Given the description of an element on the screen output the (x, y) to click on. 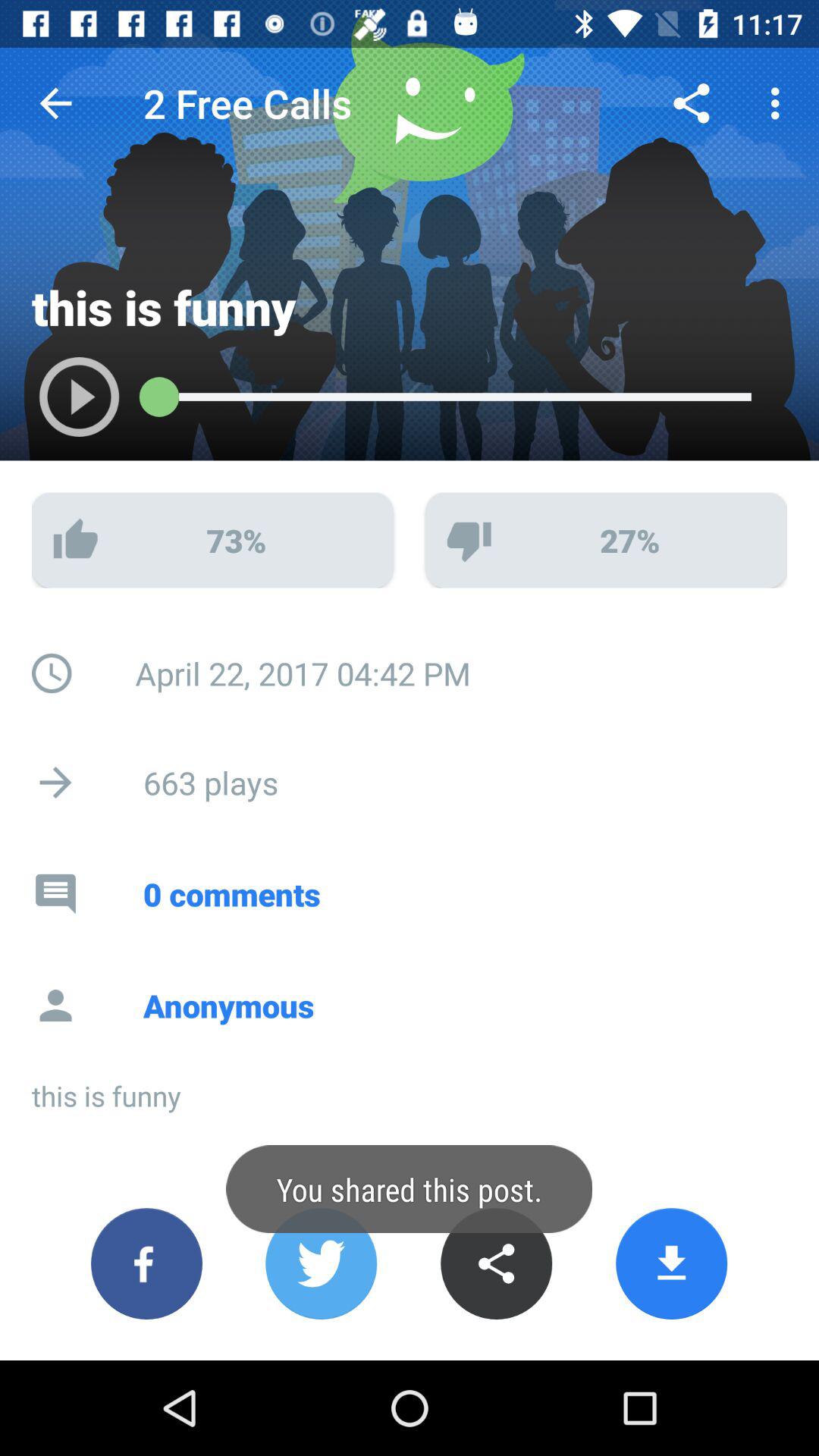
twitter option (321, 1263)
